Given the description of an element on the screen output the (x, y) to click on. 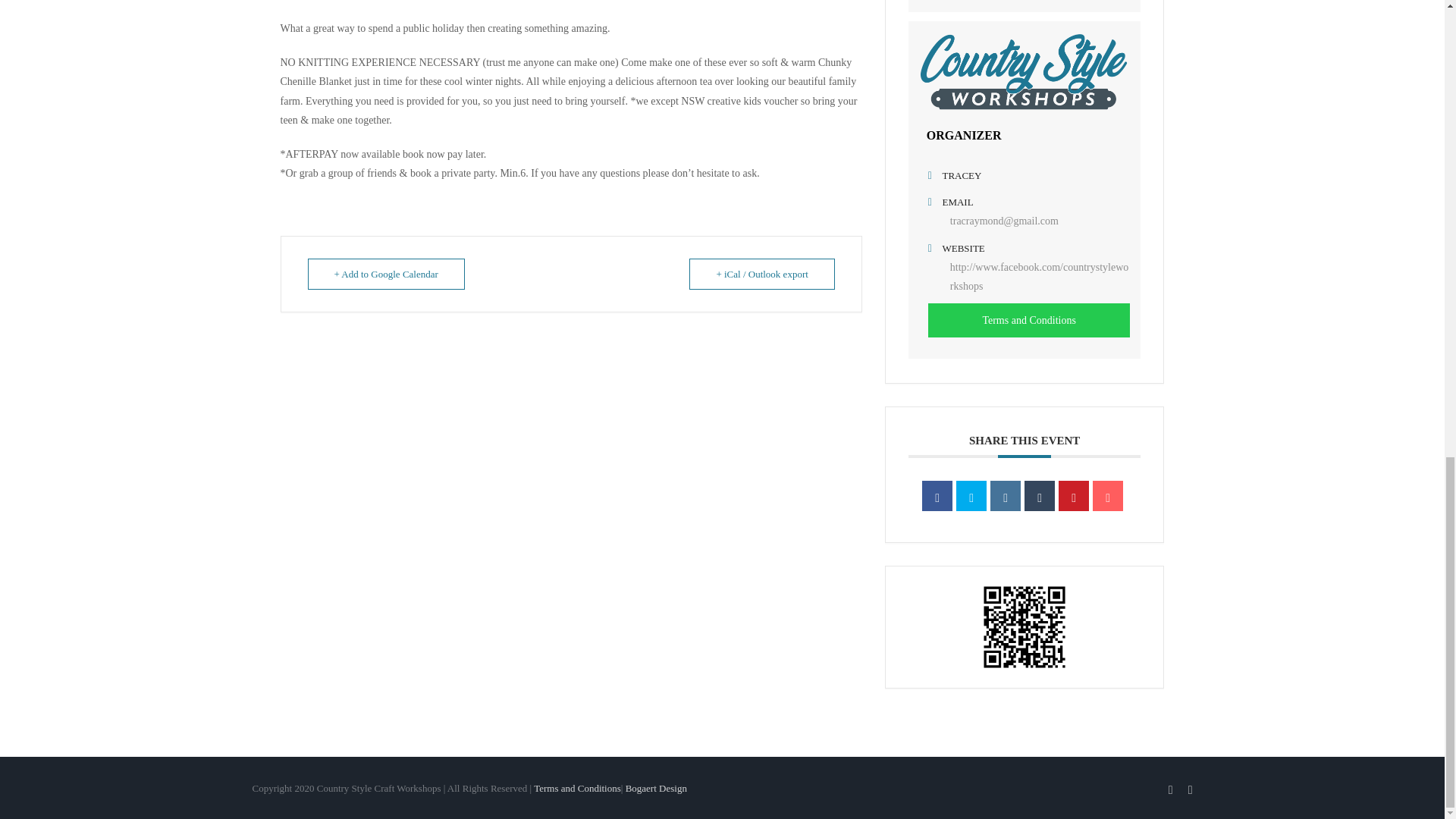
Share on Pinterest (1073, 495)
Share on Tumblr (1039, 495)
Email (1107, 495)
Tweet (971, 495)
Share on Facebook (936, 495)
Linkedin (1005, 495)
